Given the description of an element on the screen output the (x, y) to click on. 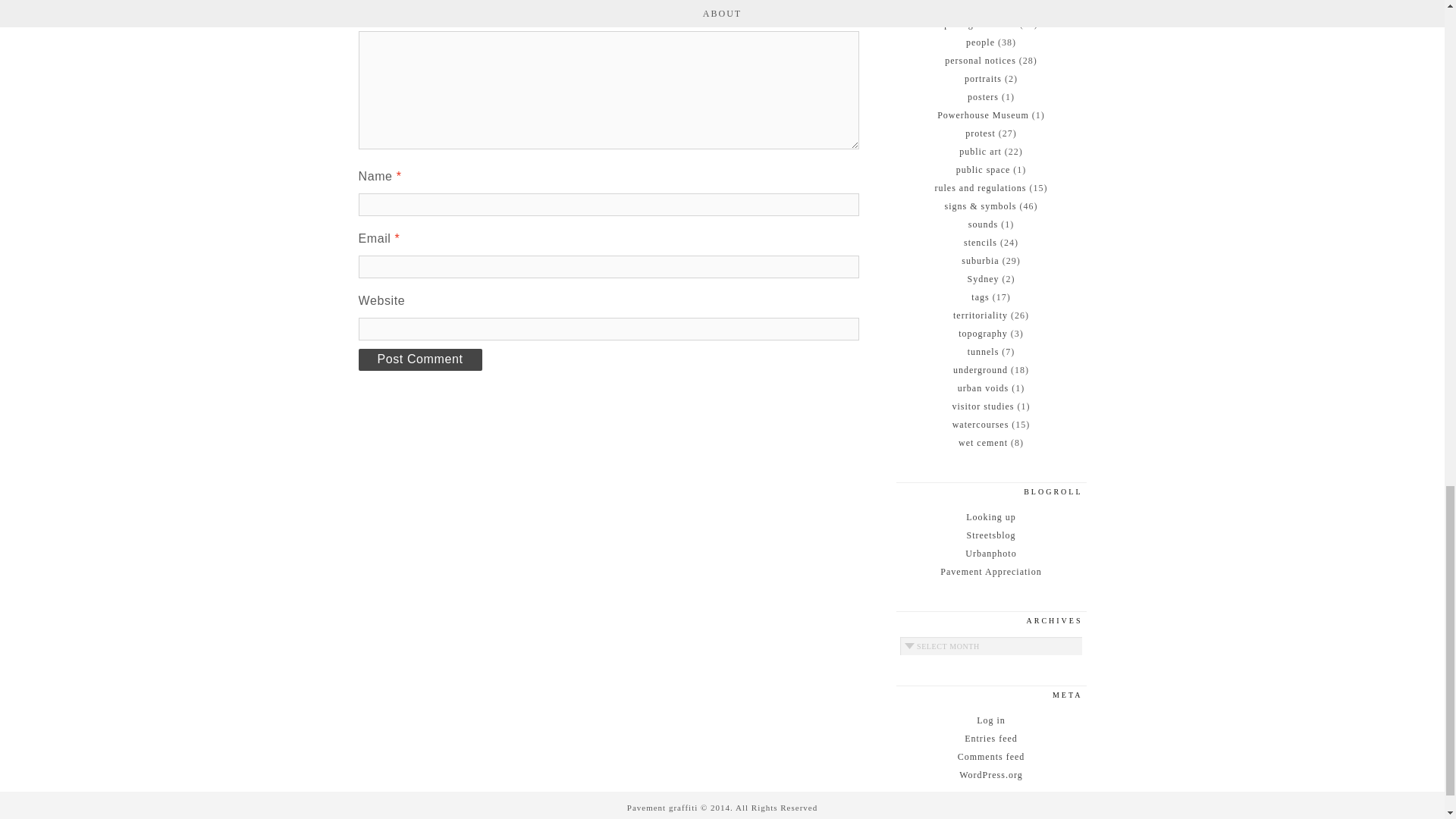
A blog about cities, people and place (990, 552)
Post Comment (419, 359)
Post Comment (419, 359)
A blog from the Dictionary of Sydney (991, 516)
